Given the description of an element on the screen output the (x, y) to click on. 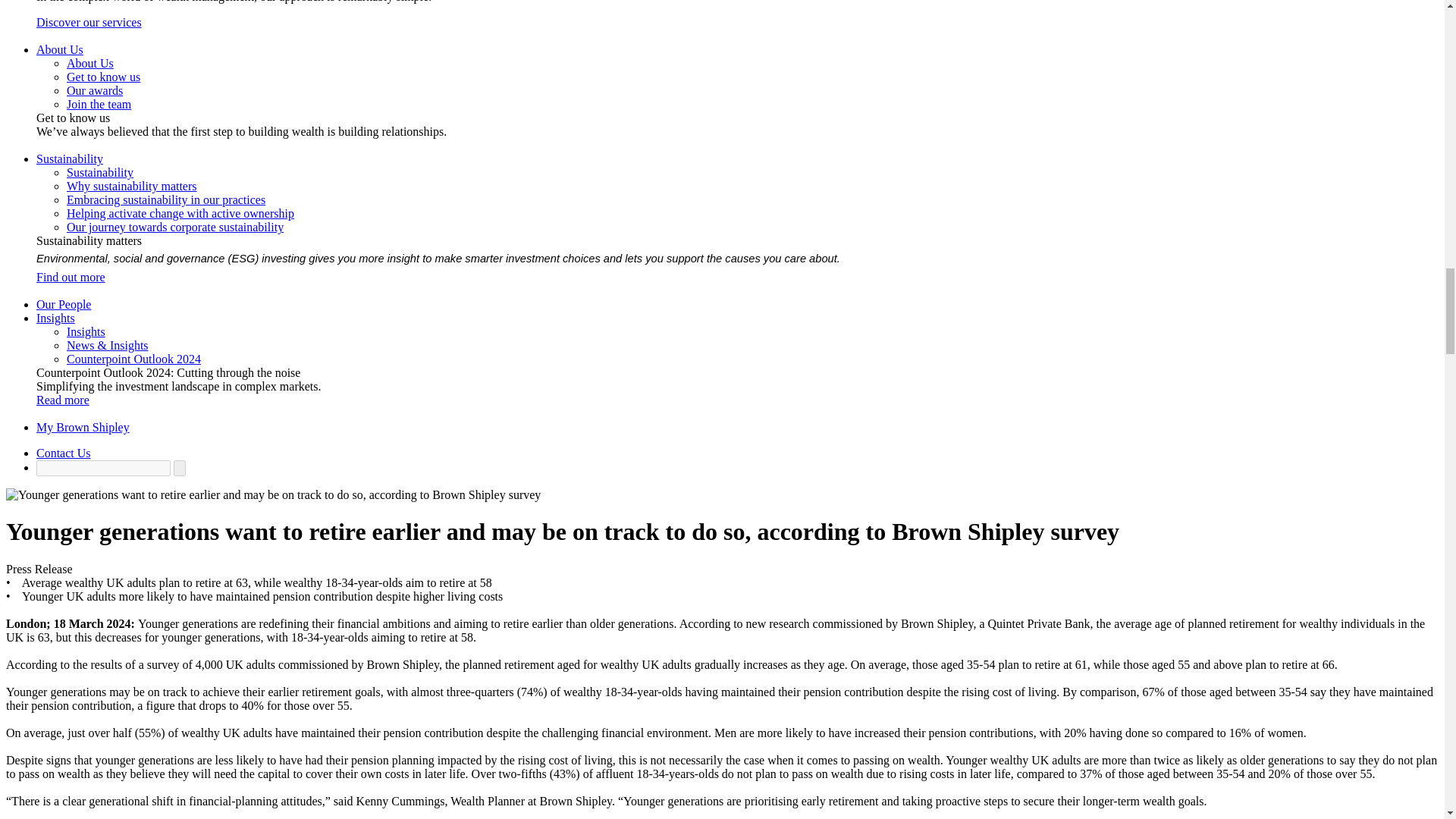
Discover our services (88, 21)
Get to know us (102, 76)
About Us (59, 49)
About Us (89, 62)
Our awards (94, 90)
